Given the description of an element on the screen output the (x, y) to click on. 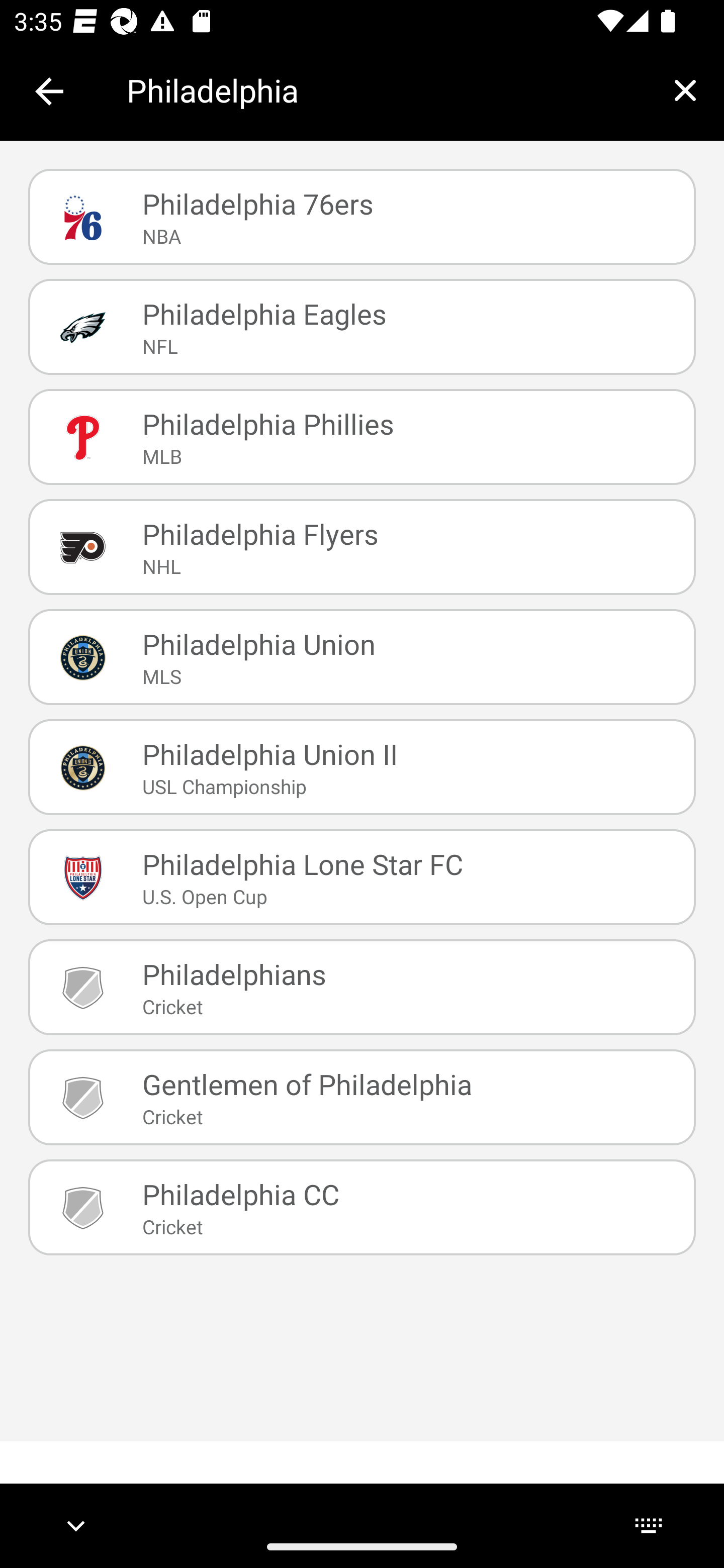
Collapse (49, 91)
Clear query (685, 89)
Philadelphia (386, 90)
Philadelphia 76ers NBA (361, 216)
Philadelphia Eagles NFL (361, 326)
Philadelphia Phillies MLB (361, 436)
Philadelphia Flyers NHL (361, 546)
Philadelphia Union MLS (361, 656)
Philadelphia Union II USL Championship (361, 767)
Philadelphia Lone Star FC U.S. Open Cup (361, 877)
Philadelphians Cricket (361, 986)
Gentlemen of Philadelphia Cricket (361, 1096)
Philadelphia CC Cricket (361, 1206)
